Given the description of an element on the screen output the (x, y) to click on. 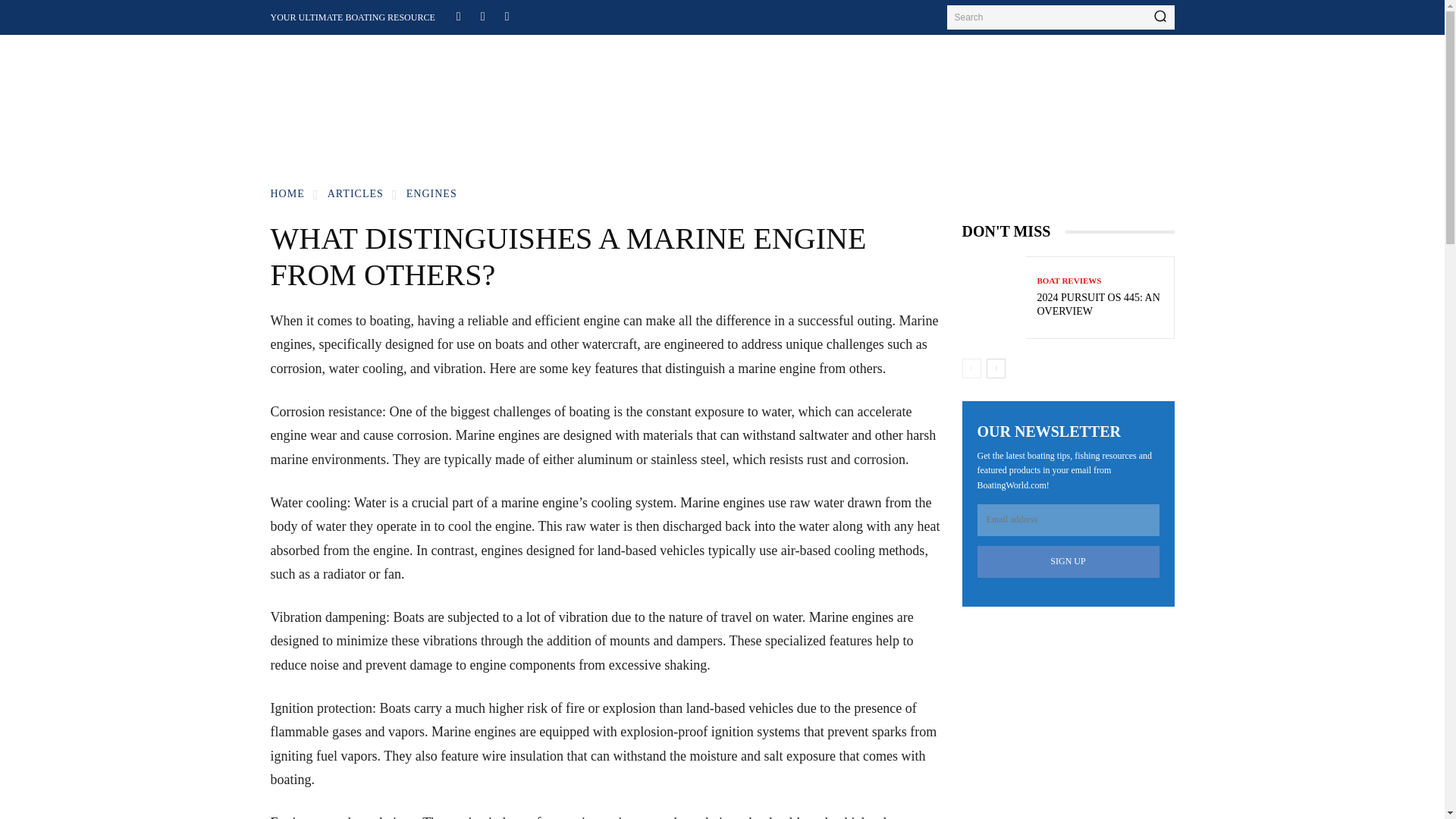
View all posts in Articles (355, 193)
Facebook (458, 15)
BoatingWorld (355, 81)
Instagram (482, 15)
Twitter (507, 15)
